Given the description of an element on the screen output the (x, y) to click on. 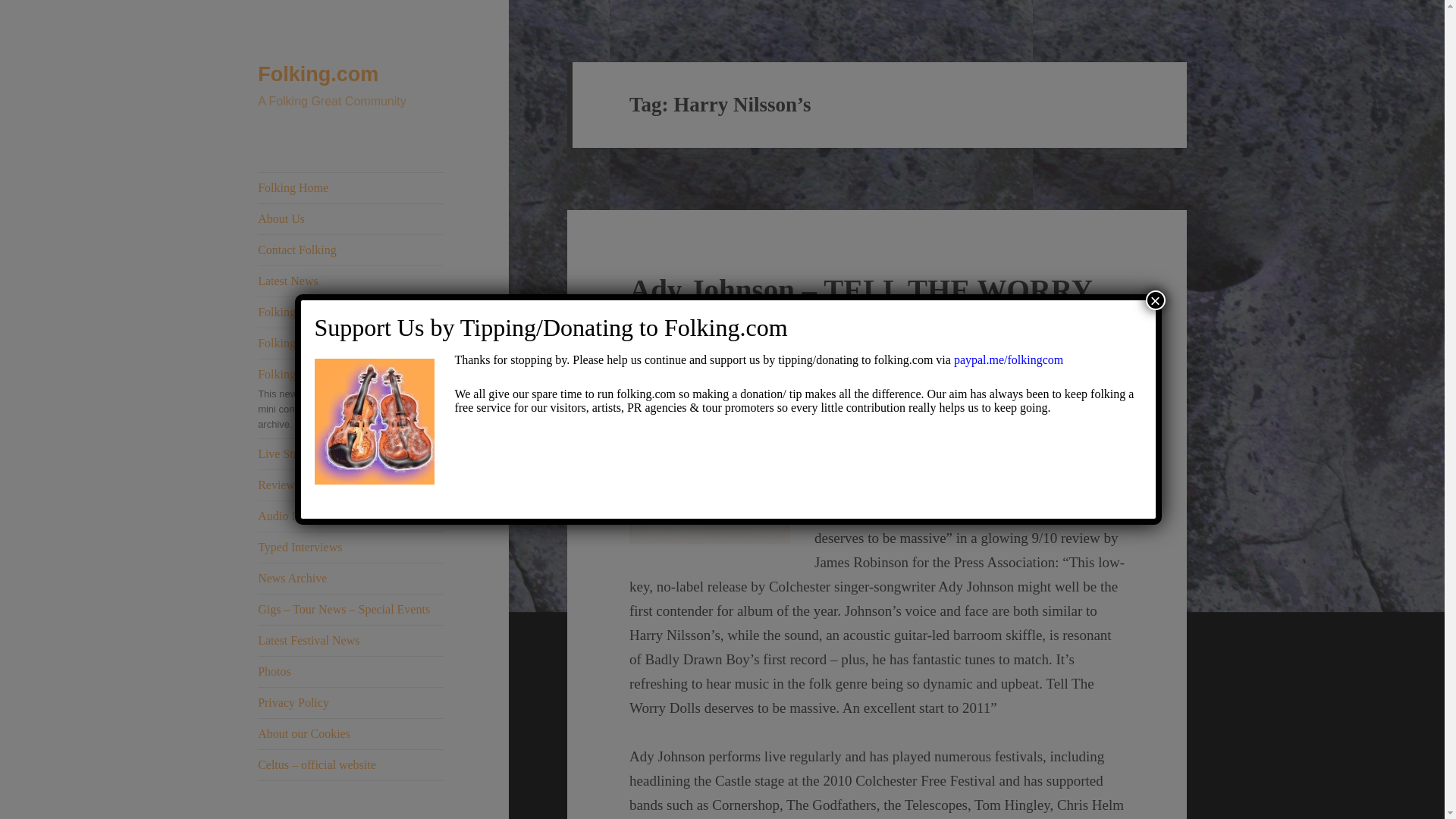
Typed Interviews (350, 547)
Folking.com (317, 74)
Photos (350, 671)
Reviews (350, 485)
Folking Home (350, 187)
Folking Awards (350, 312)
Latest News (350, 281)
Live Streams (350, 453)
Contact Folking (350, 250)
News Archive (350, 578)
